Given the description of an element on the screen output the (x, y) to click on. 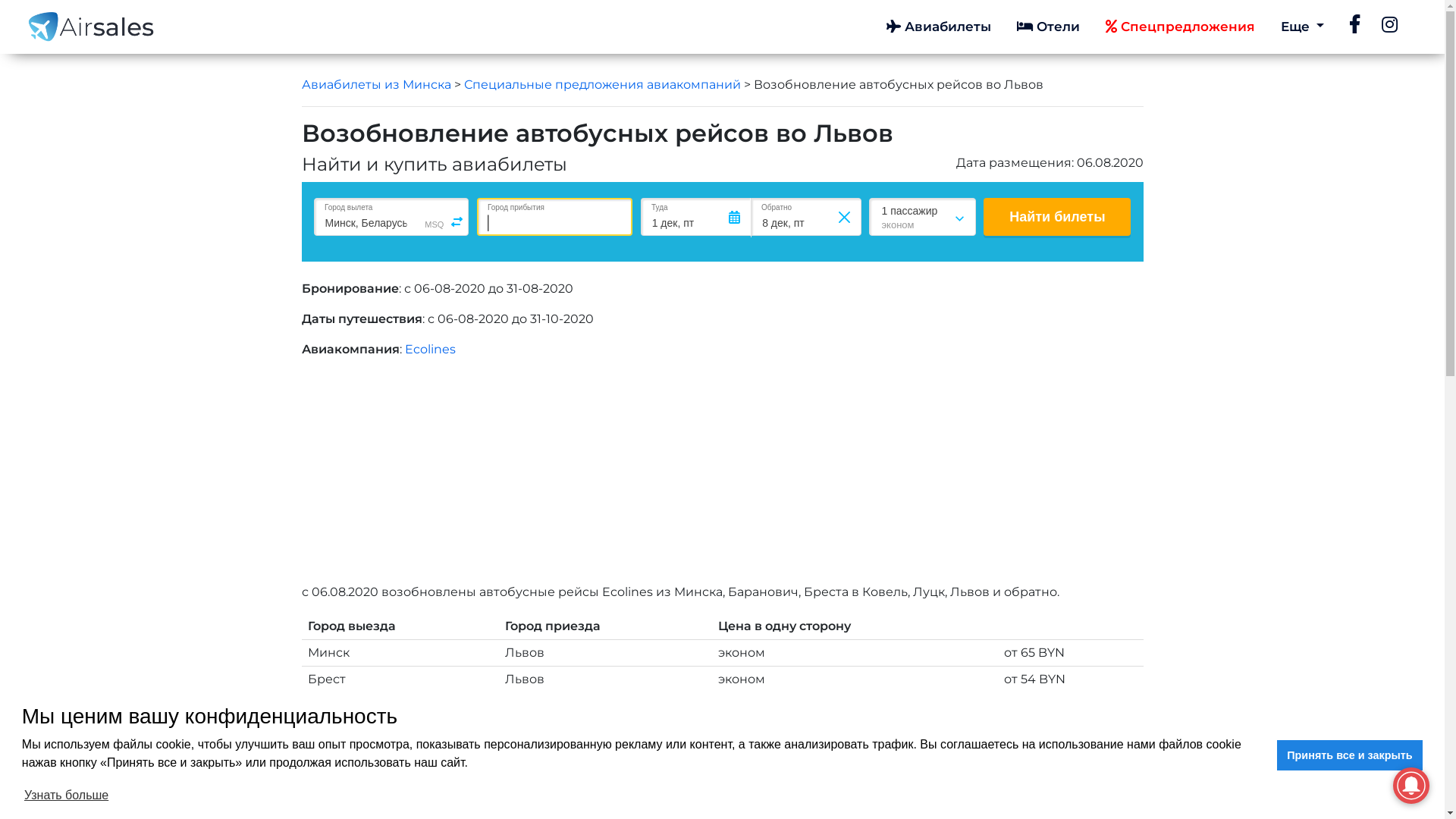
Ecolines Element type: text (429, 349)
Advertisement Element type: hover (756, 476)
